Given the description of an element on the screen output the (x, y) to click on. 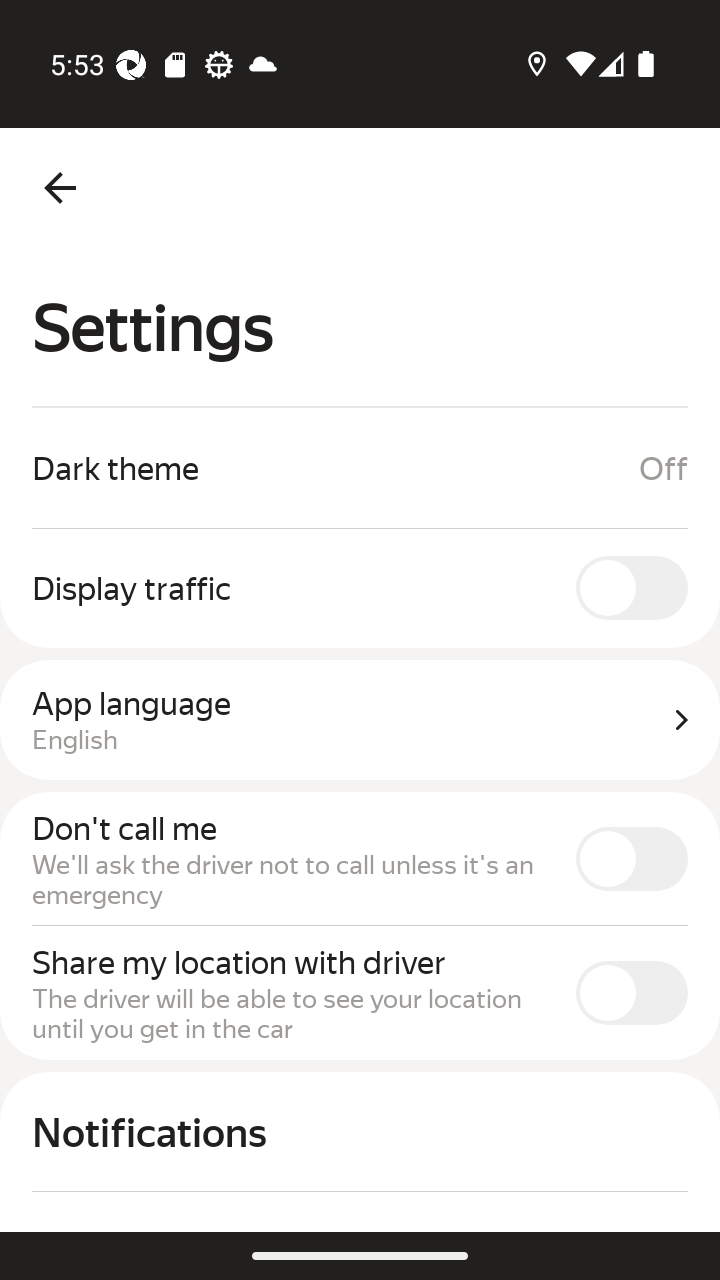
Back (60, 188)
Dark theme Dark theme Off Off (360, 467)
Display traffic (360, 587)
App language, English App language English (360, 719)
